Given the description of an element on the screen output the (x, y) to click on. 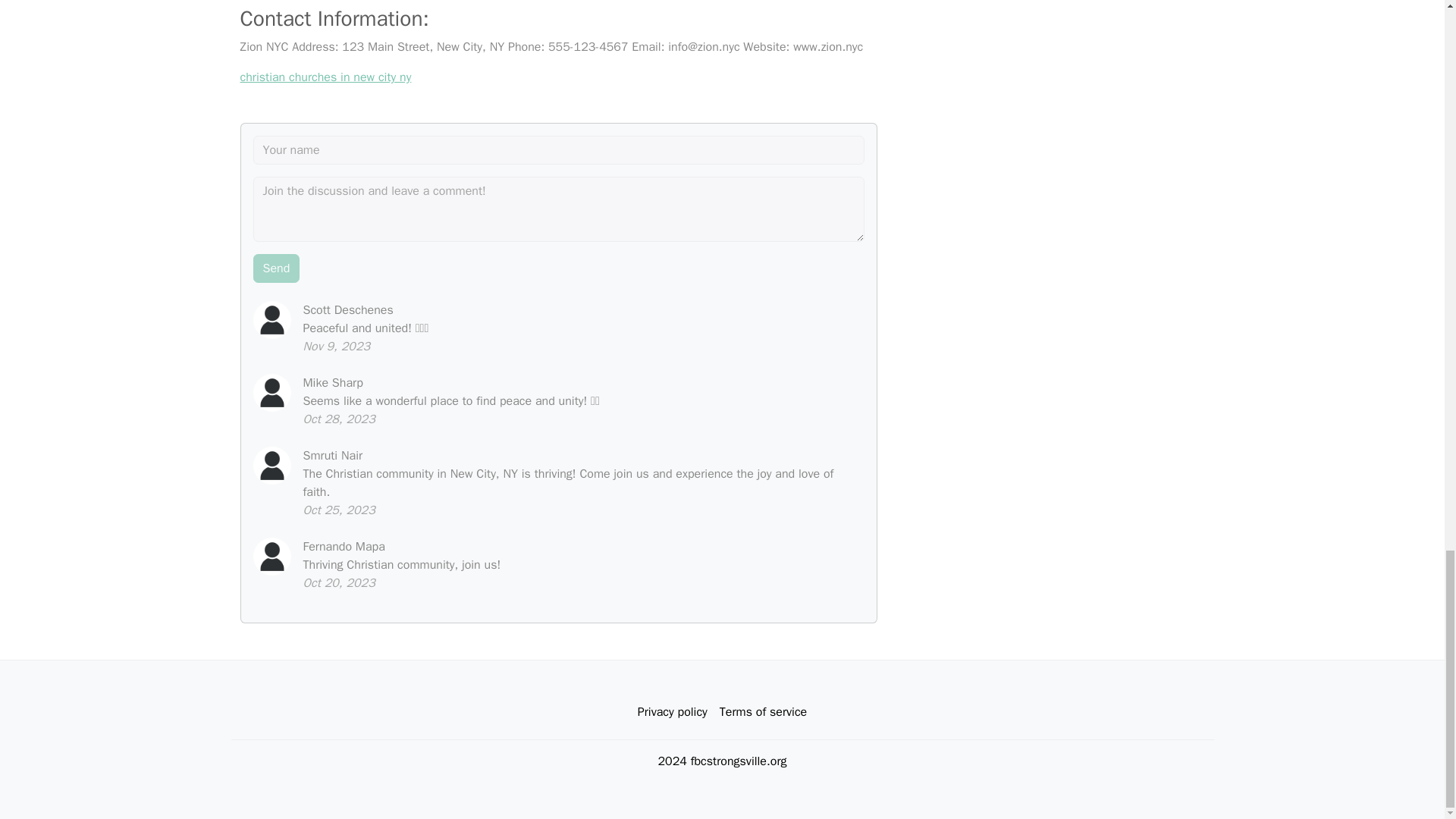
Privacy policy (672, 711)
Terms of service (762, 711)
Send (276, 267)
Send (276, 267)
christian churches in new city ny (325, 77)
